Given the description of an element on the screen output the (x, y) to click on. 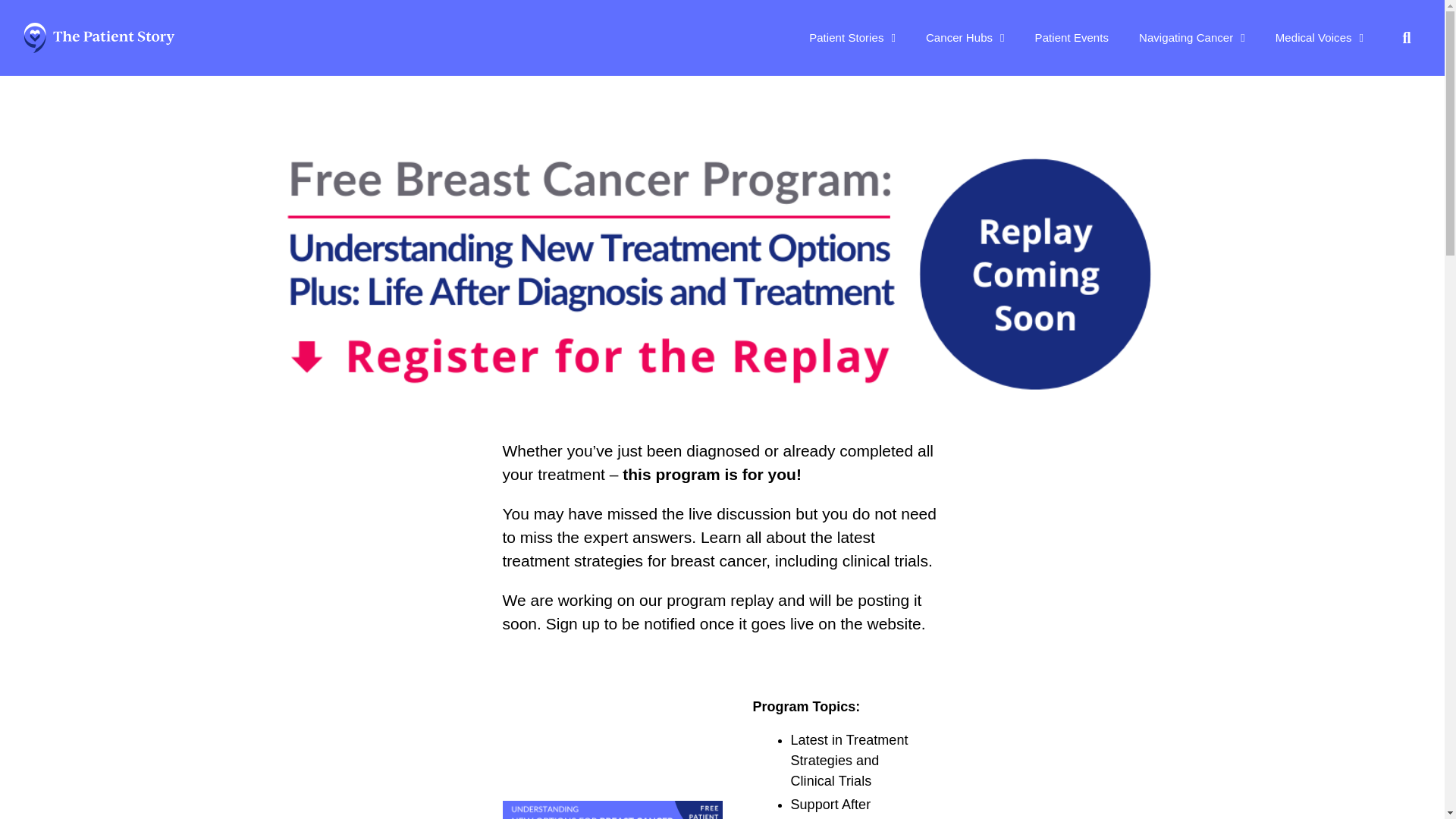
Navigating Cancer (1192, 38)
Cancer Hubs (965, 38)
Patient Stories (852, 38)
Patient Events (1072, 38)
Medical Voices (1319, 38)
